Given the description of an element on the screen output the (x, y) to click on. 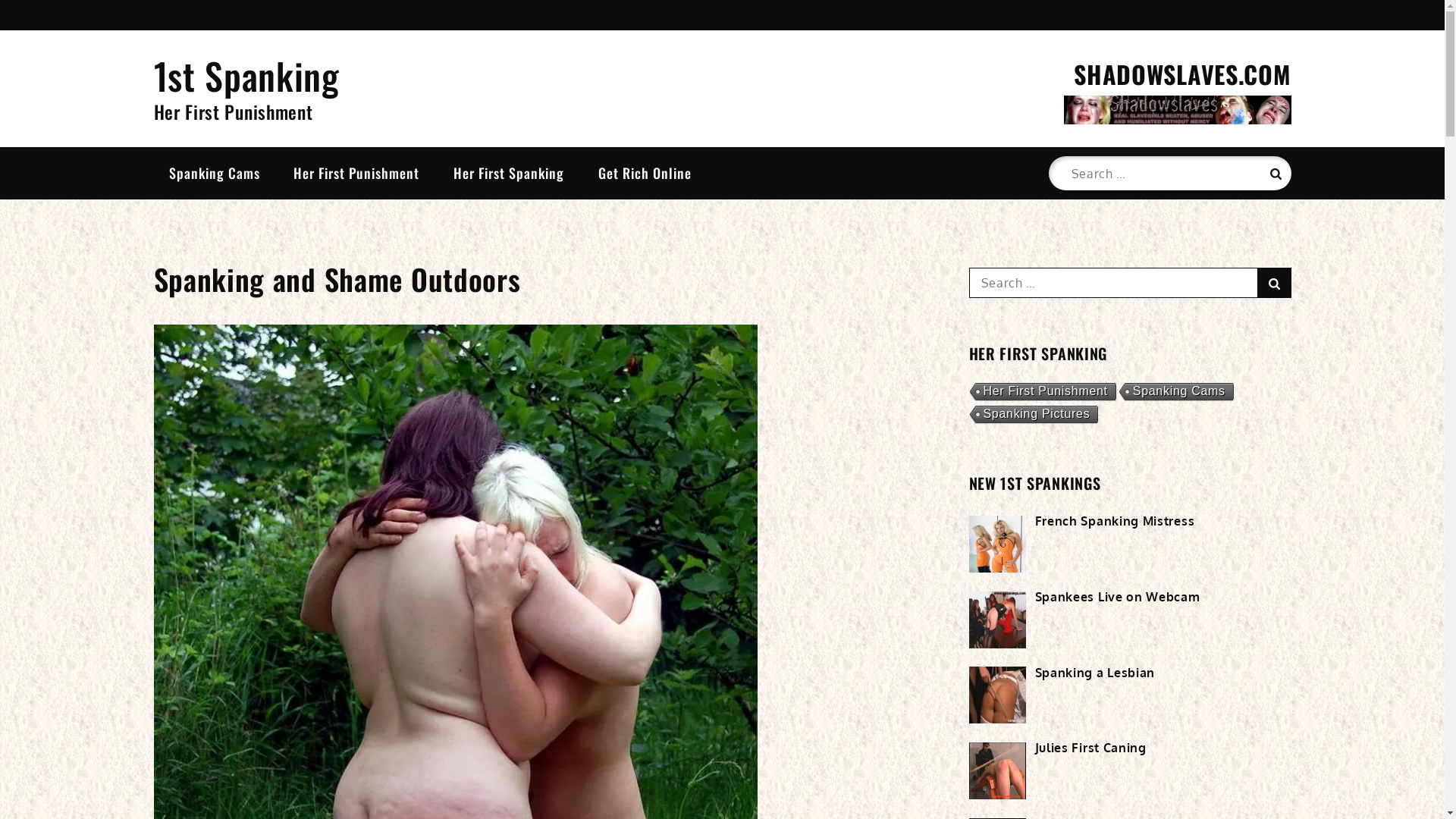
Julies First Caning Element type: text (1089, 747)
Get Rich Online Element type: text (644, 172)
Spanking Cams Element type: text (213, 172)
Search Element type: text (1274, 282)
Spanking Pictures Element type: text (1032, 414)
Search Element type: text (1274, 173)
French Spanking Mistress Element type: text (1114, 520)
1st Spanking Element type: text (245, 75)
Her First Punishment Element type: text (1041, 391)
Spanking Cams Element type: text (1175, 391)
Her First Spanking Element type: text (508, 172)
Her First Punishment Element type: text (356, 172)
Spanking a Lesbian Element type: text (1094, 672)
Spankees Live on Webcam Element type: text (1116, 596)
